Given the description of an element on the screen output the (x, y) to click on. 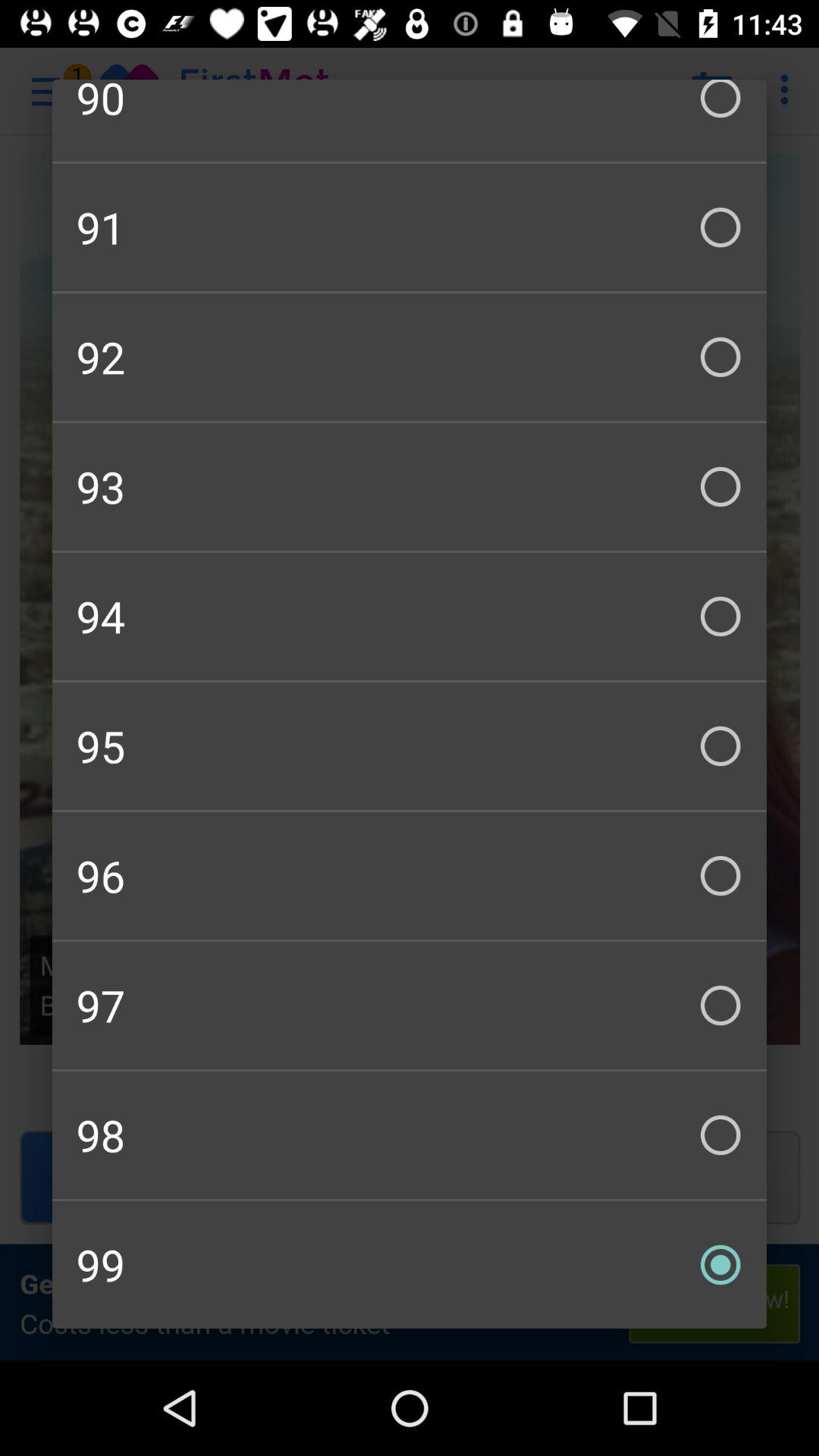
flip until the 90 item (409, 120)
